Given the description of an element on the screen output the (x, y) to click on. 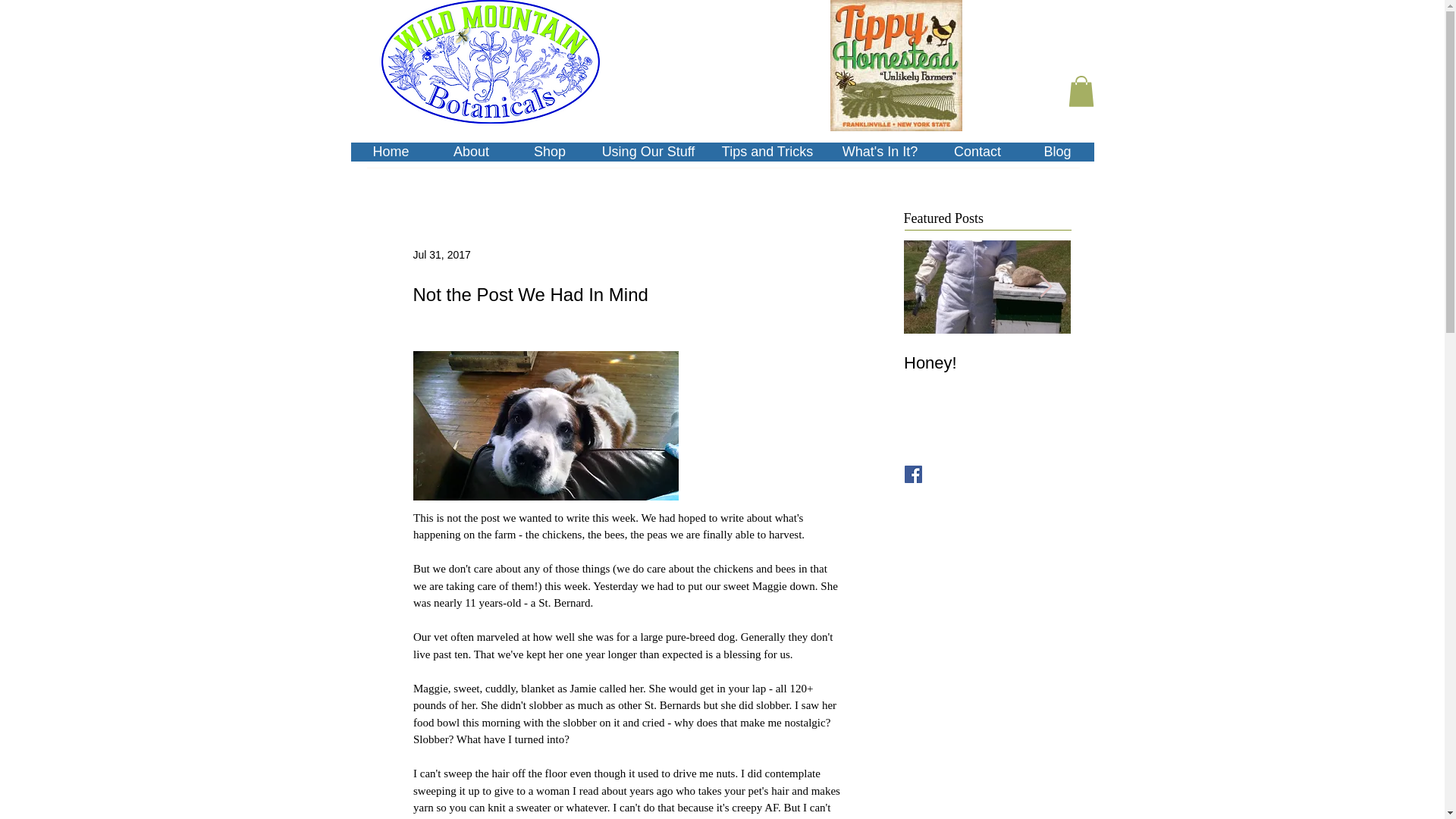
Tips and Tricks (766, 151)
Using Our Stuff (648, 151)
Summertime, and the bugs are out (1153, 372)
Shop (549, 151)
Home (987, 347)
About (390, 151)
What's In It? (470, 151)
Blog (987, 347)
Honey! (880, 151)
Jul 31, 2017 (1056, 151)
Contact (987, 362)
